Given the description of an element on the screen output the (x, y) to click on. 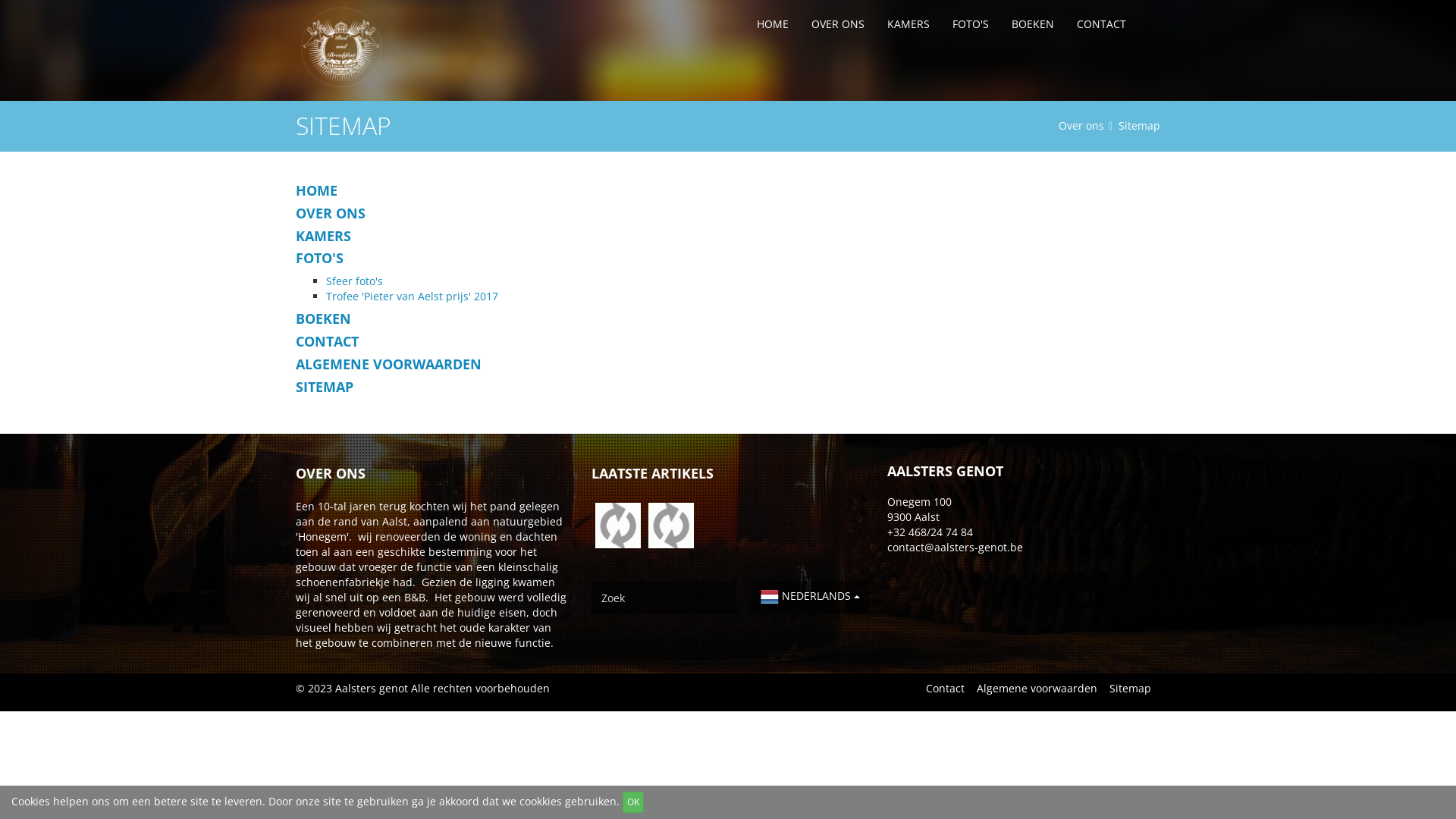
Contact Element type: text (944, 687)
KAMERS Element type: text (908, 24)
HOME Element type: text (727, 190)
Trofee 'Pieter van Aelst prijs' 2017 - Foto's Element type: hover (617, 525)
Algemene voorwaarden Element type: text (1036, 687)
FOTO'S Element type: text (970, 24)
NEDERLANDS Element type: text (810, 595)
BOEKEN Element type: text (727, 318)
HOME Element type: text (772, 24)
CONTACT Element type: text (1101, 24)
OVER ONS Element type: text (837, 24)
Sfeer foto's Element type: text (354, 280)
ALGEMENE VOORWAARDEN Element type: text (727, 364)
FOTO'S Element type: text (727, 258)
SITEMAP Element type: text (727, 387)
OVER ONS Element type: text (727, 213)
CONTACT Element type: text (727, 341)
BOEKEN Element type: text (1032, 24)
Over ons Element type: hover (363, 47)
KAMERS Element type: text (727, 236)
Sitemap Element type: text (1130, 687)
OK Element type: text (632, 801)
Trofee 'Pieter van Aelst prijs' 2017 Element type: text (412, 295)
Sfeer foto's  - Foto's Element type: hover (670, 525)
Over ons Element type: text (1086, 125)
contact@aalsters-genot.be Element type: text (954, 546)
